Given the description of an element on the screen output the (x, y) to click on. 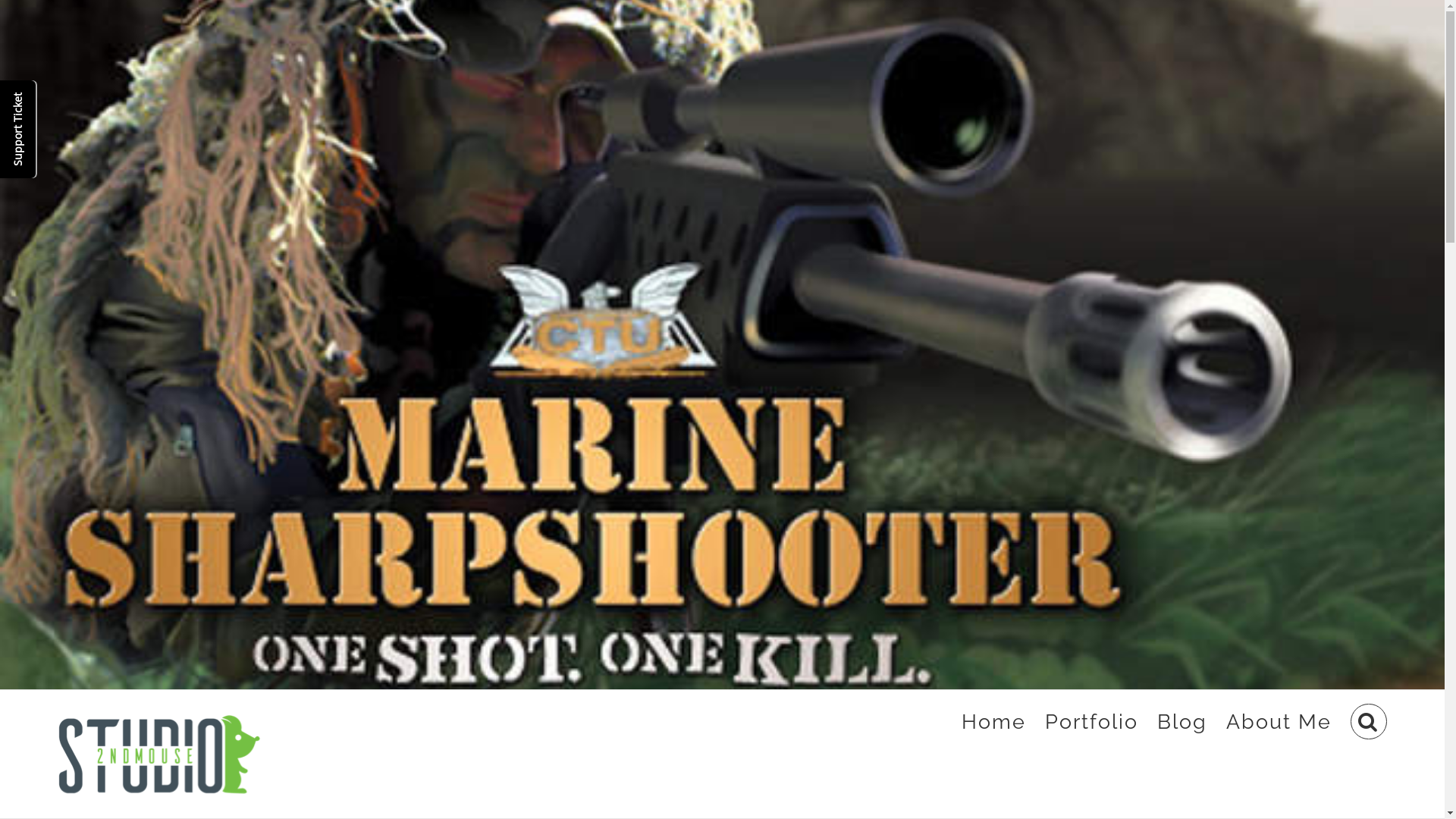
Blog Element type: text (1182, 721)
Portfolio Element type: text (1091, 721)
Home Element type: text (993, 721)
About Me Element type: text (1278, 721)
